Given the description of an element on the screen output the (x, y) to click on. 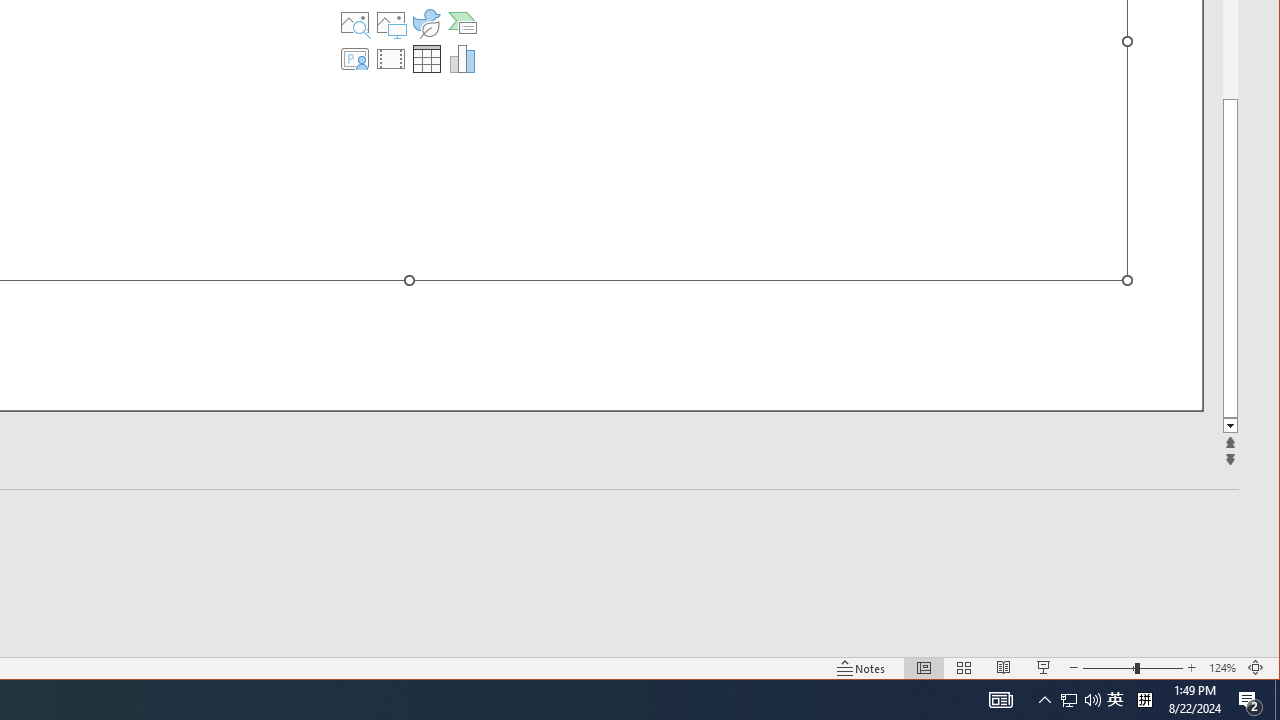
Zoom 124% (1222, 668)
Insert Video (391, 58)
Insert Chart (462, 58)
Insert an Icon (426, 22)
Insert Table (426, 58)
Stock Images (355, 22)
